Given the description of an element on the screen output the (x, y) to click on. 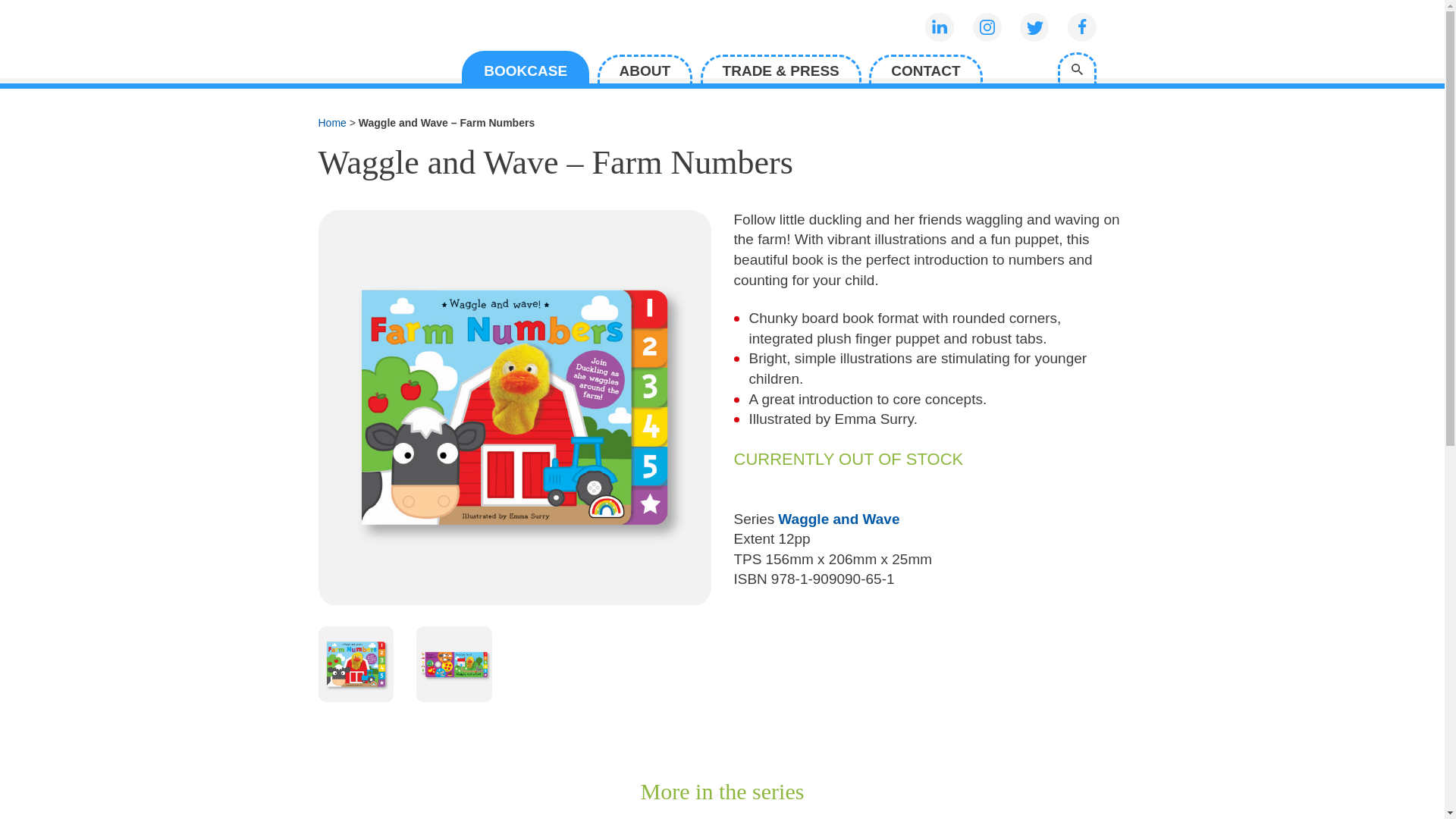
Waggle and Wave (838, 519)
BOOKCASE (525, 66)
ABOUT (644, 68)
Search (1076, 67)
Home (332, 122)
CONTACT (925, 68)
